Given the description of an element on the screen output the (x, y) to click on. 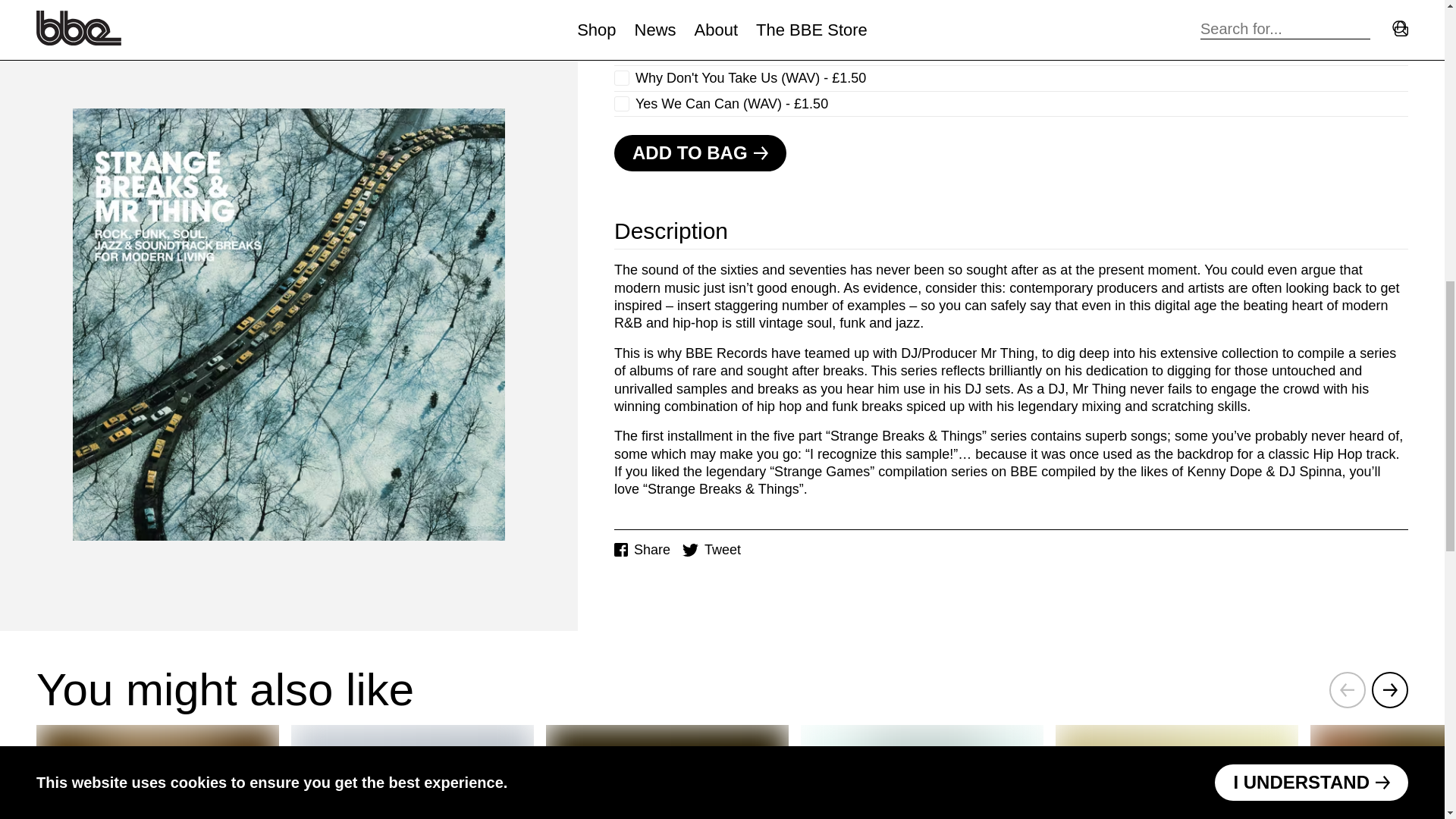
ADD TO BAG (412, 771)
Tweet (700, 153)
Share (711, 549)
Sly Johnson - Trust Me (1176, 771)
cover (641, 549)
Kris Tidjan - Small Axes (667, 771)
